Given the description of an element on the screen output the (x, y) to click on. 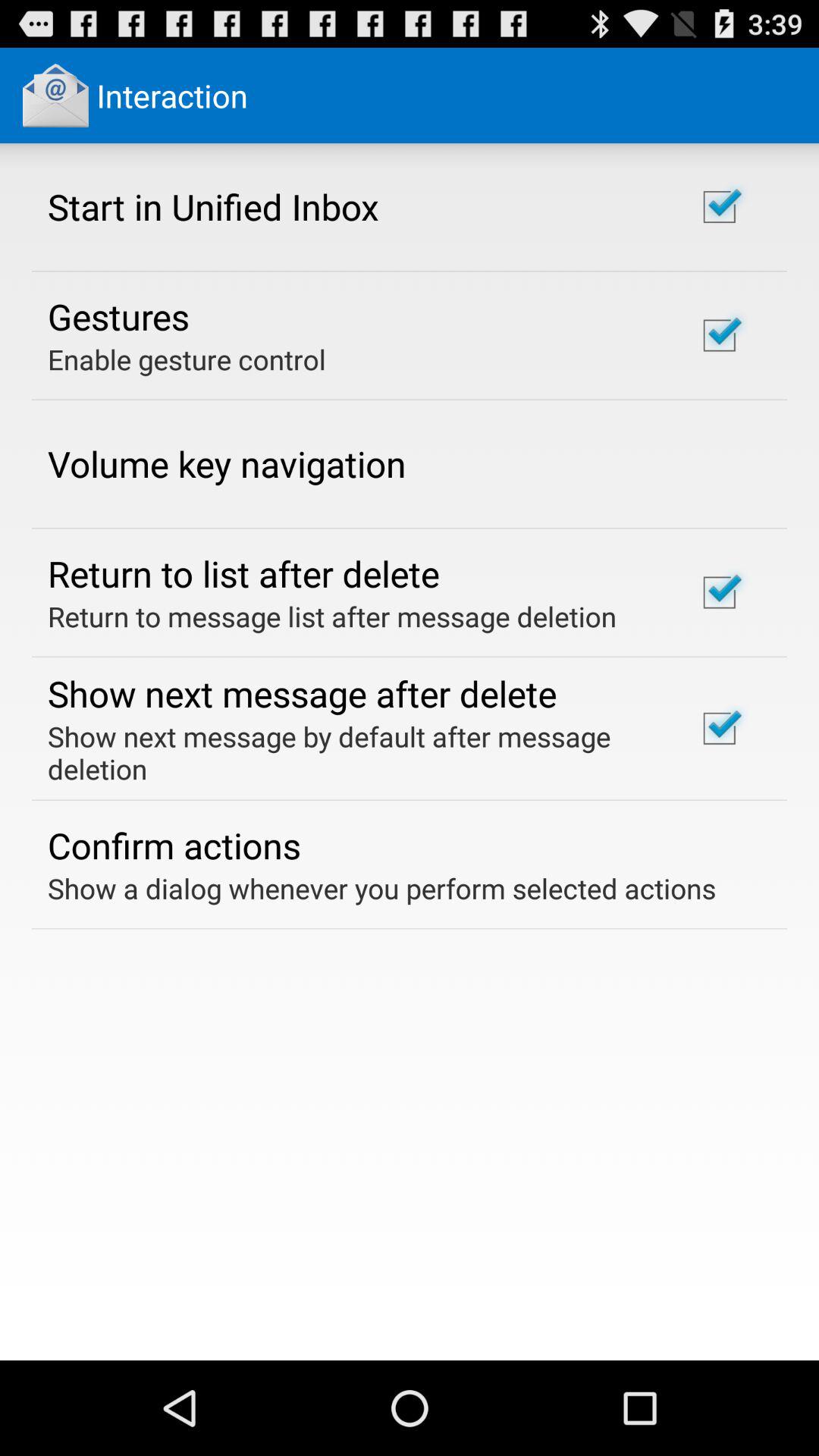
turn on show a dialog (381, 888)
